Given the description of an element on the screen output the (x, y) to click on. 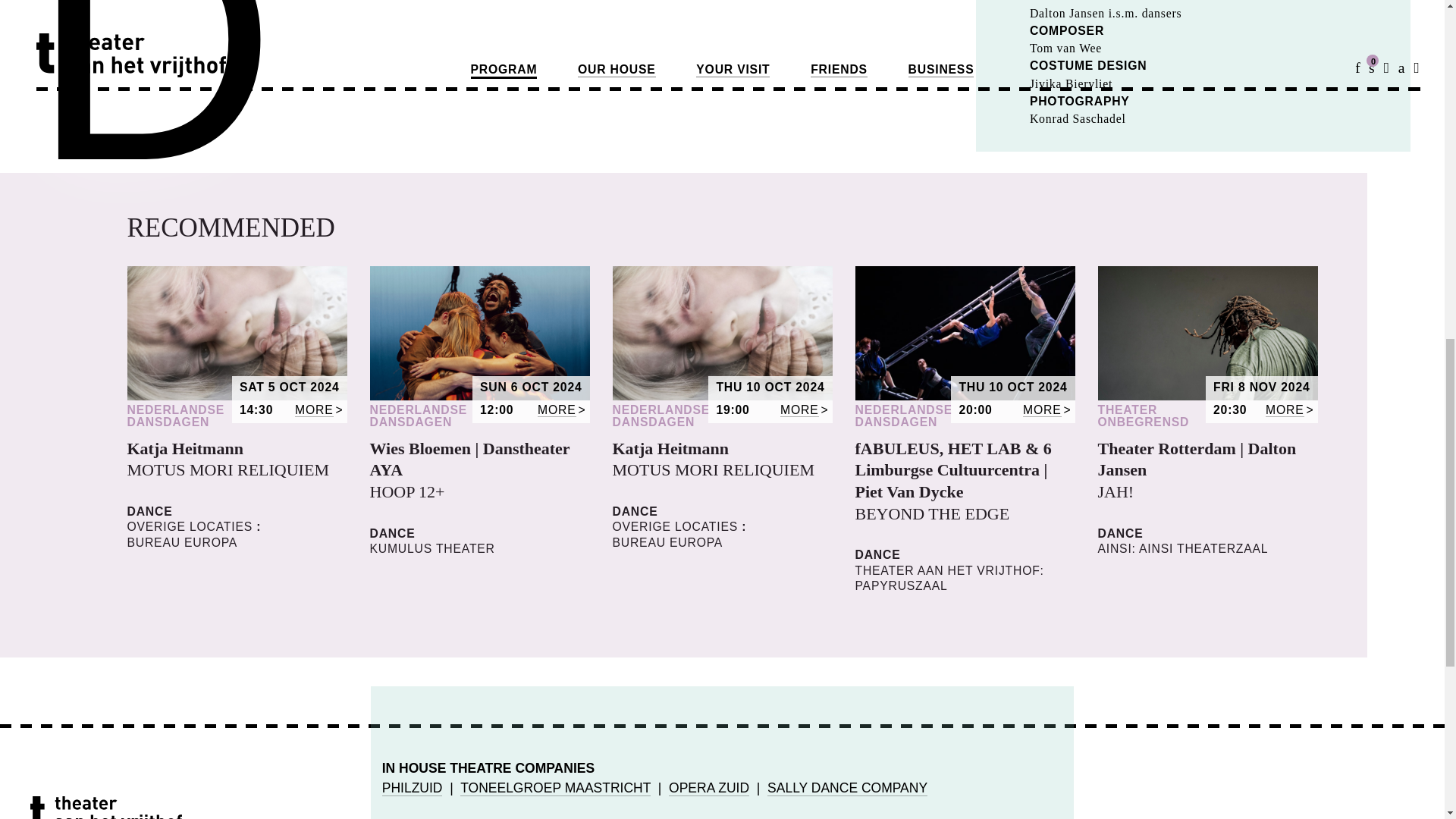
logo (106, 807)
